Given the description of an element on the screen output the (x, y) to click on. 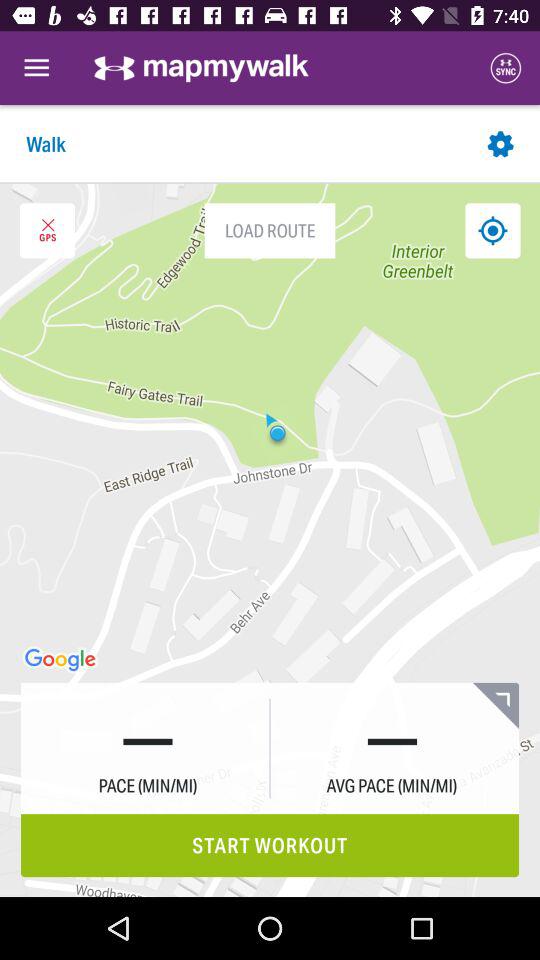
select icon to the right of the load route item (492, 230)
